Given the description of an element on the screen output the (x, y) to click on. 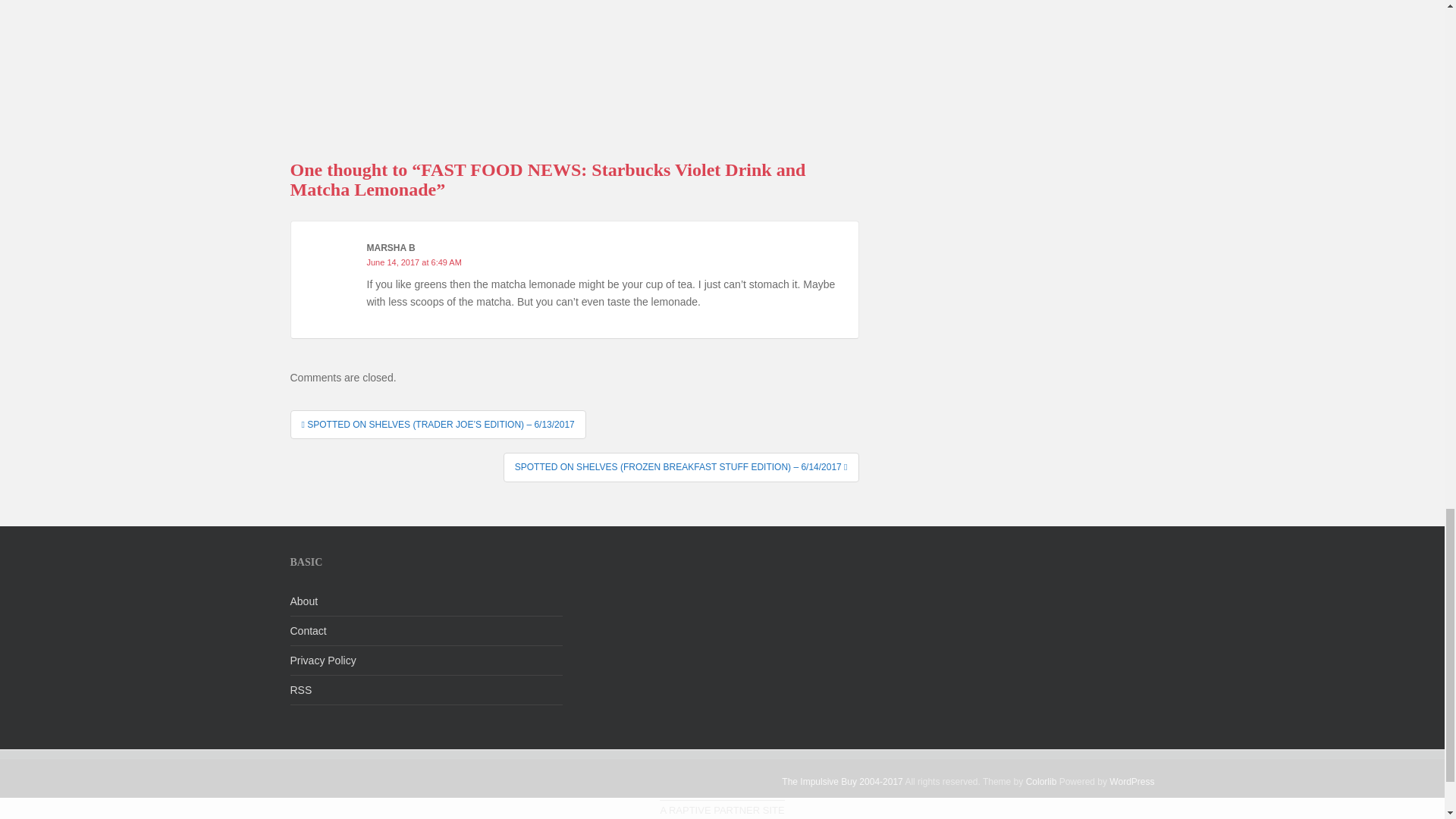
June 14, 2017 at 6:49 AM (413, 261)
